Given the description of an element on the screen output the (x, y) to click on. 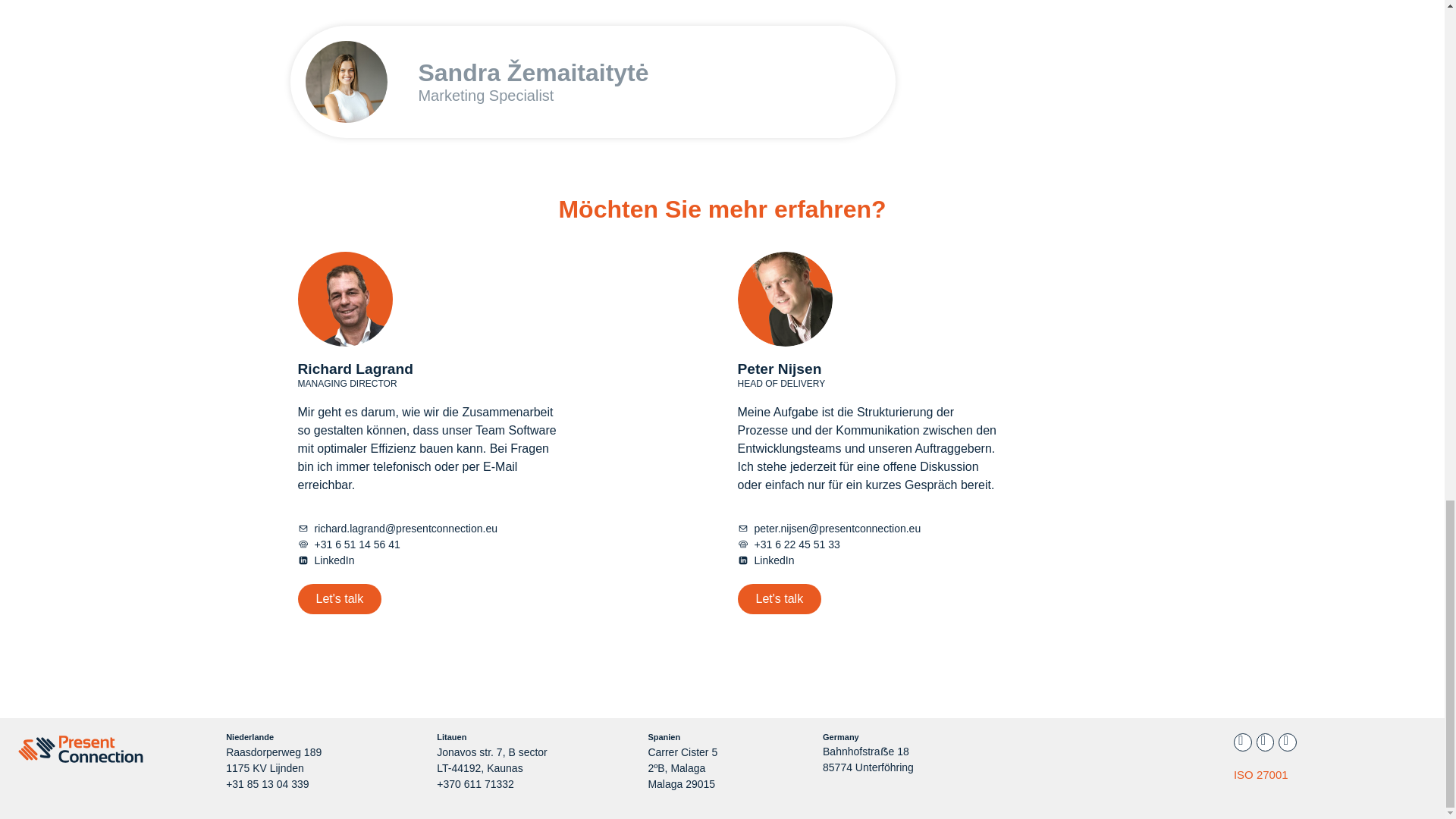
LinkedIn (325, 560)
ISO 27001 (1260, 774)
Let's talk (778, 598)
Let's talk (339, 598)
LinkedIn (764, 560)
